Given the description of an element on the screen output the (x, y) to click on. 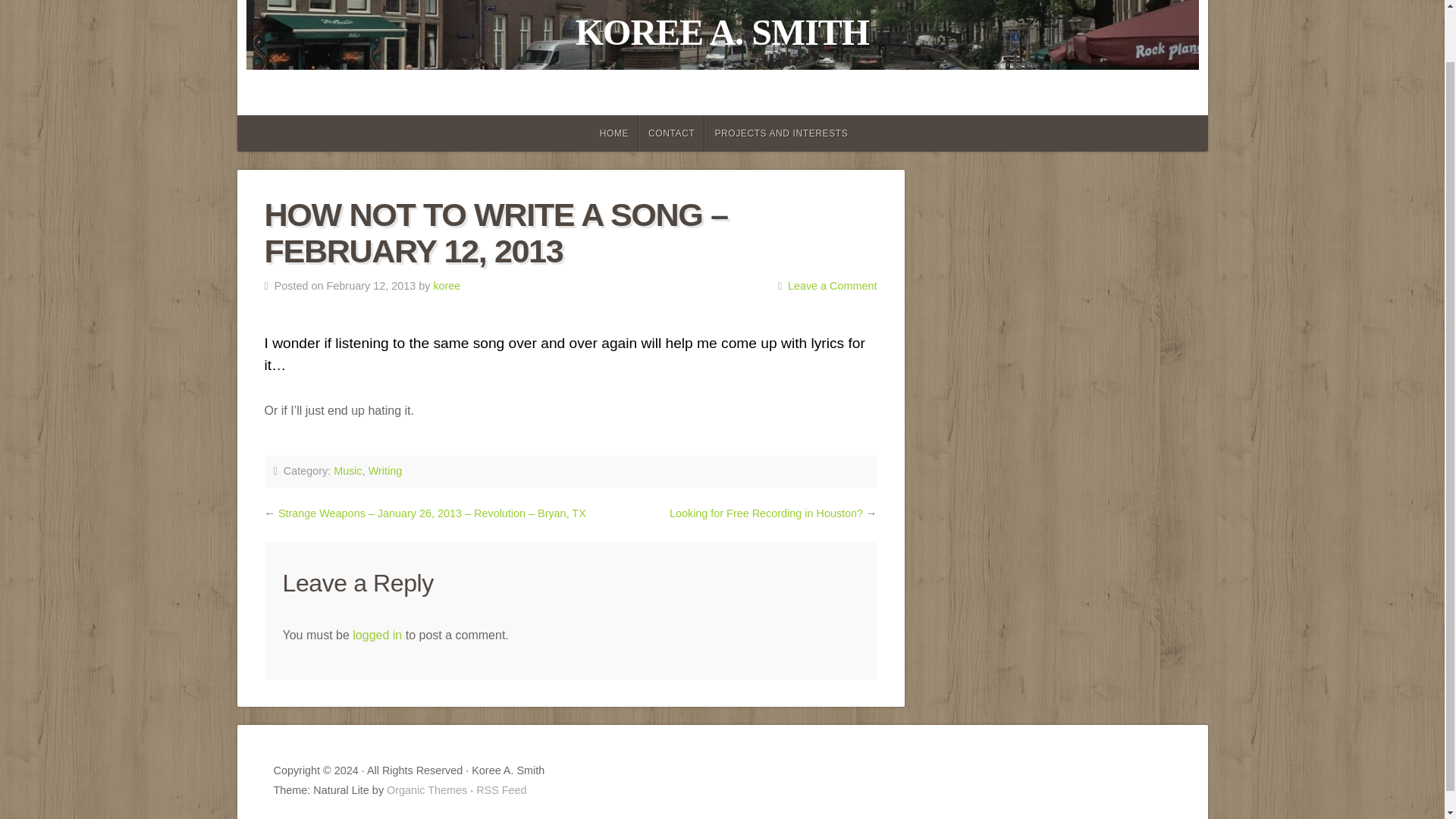
logged in (376, 634)
Writing (385, 470)
Music (347, 470)
RSS Feed (500, 789)
HOME (613, 133)
Looking for Free Recording in Houston? (766, 512)
KOREE A. SMITH (722, 32)
Leave a Comment (832, 285)
CONTACT (671, 133)
Leave a Comment (832, 285)
